Given the description of an element on the screen output the (x, y) to click on. 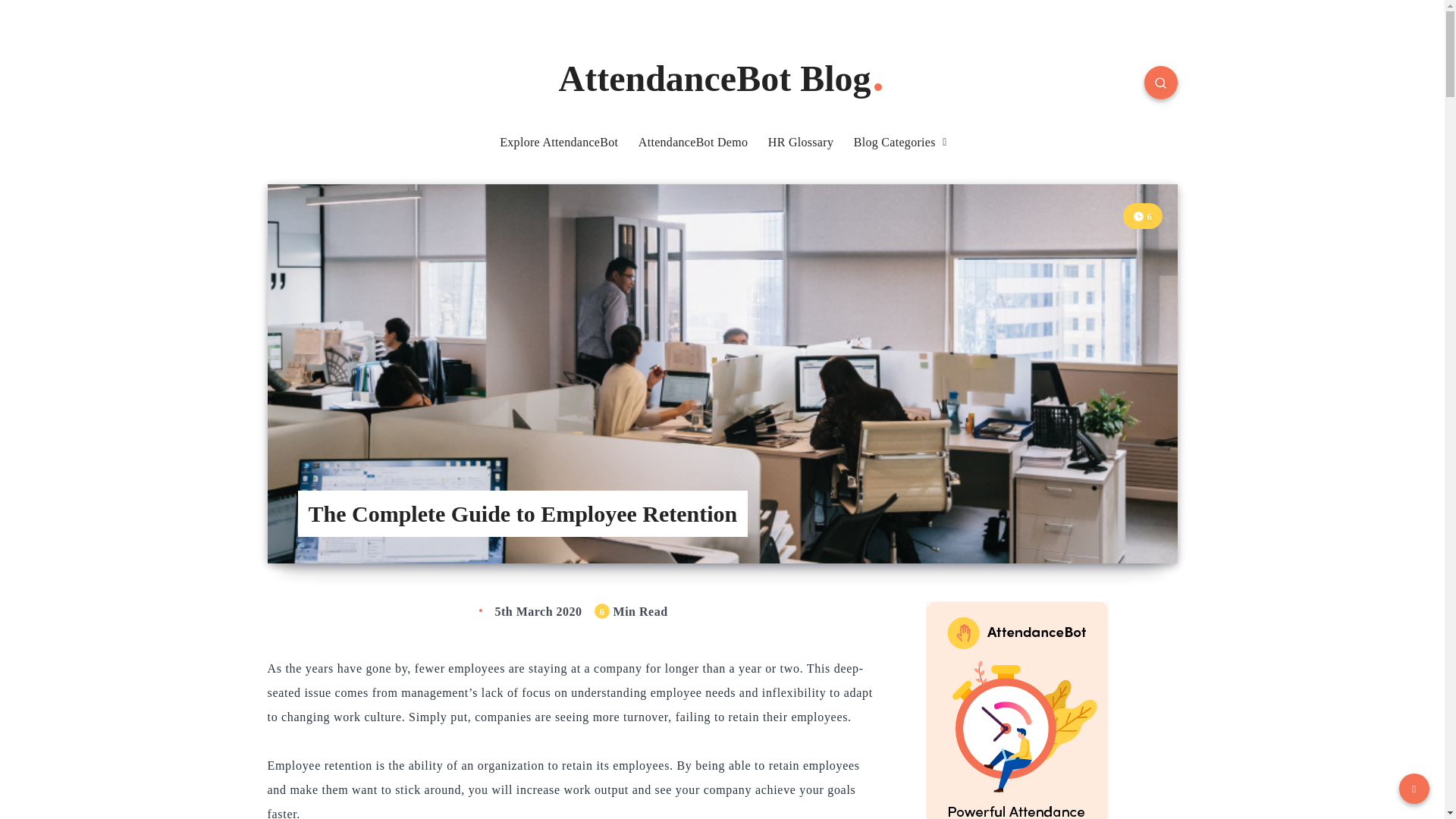
AttendanceBot Demo (693, 142)
AttendanceBot Blog (721, 78)
6 Min Read (1142, 216)
HR Glossary (800, 142)
Explore AttendanceBot (558, 142)
Blog Categories (894, 142)
